Given the description of an element on the screen output the (x, y) to click on. 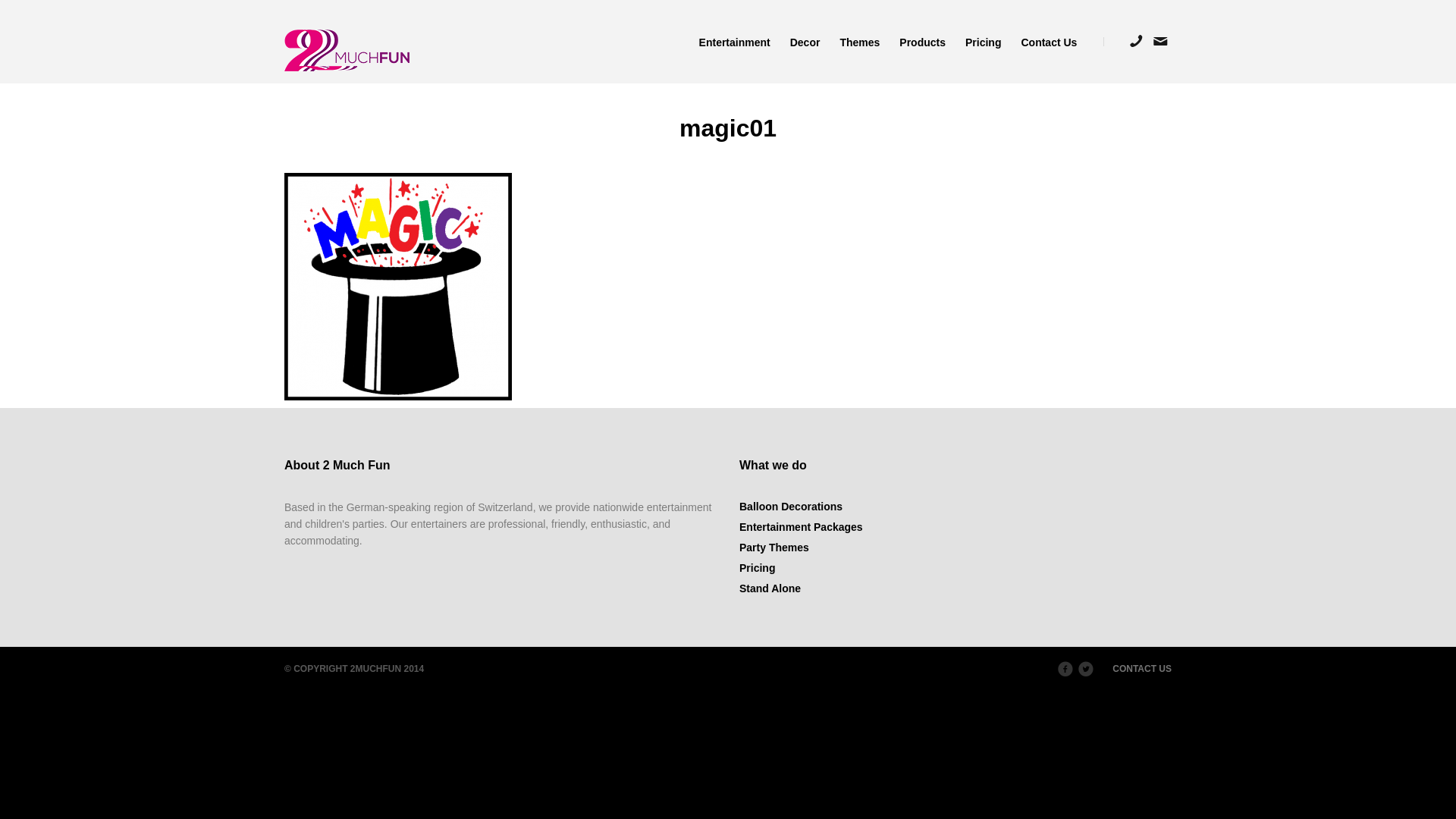
Pricing Element type: text (982, 41)
Products Element type: text (922, 41)
2MuchFun Element type: hover (346, 50)
Balloon Decorations Element type: text (790, 506)
Entertainment Element type: text (734, 41)
Themes Element type: text (859, 41)
Decor Element type: text (805, 41)
CONTACT US Element type: text (1141, 668)
Contact Us Element type: text (1043, 41)
Party Themes Element type: text (774, 547)
Stand Alone Element type: text (769, 588)
Entertainment Packages Element type: text (800, 526)
Pricing Element type: text (757, 567)
